Given the description of an element on the screen output the (x, y) to click on. 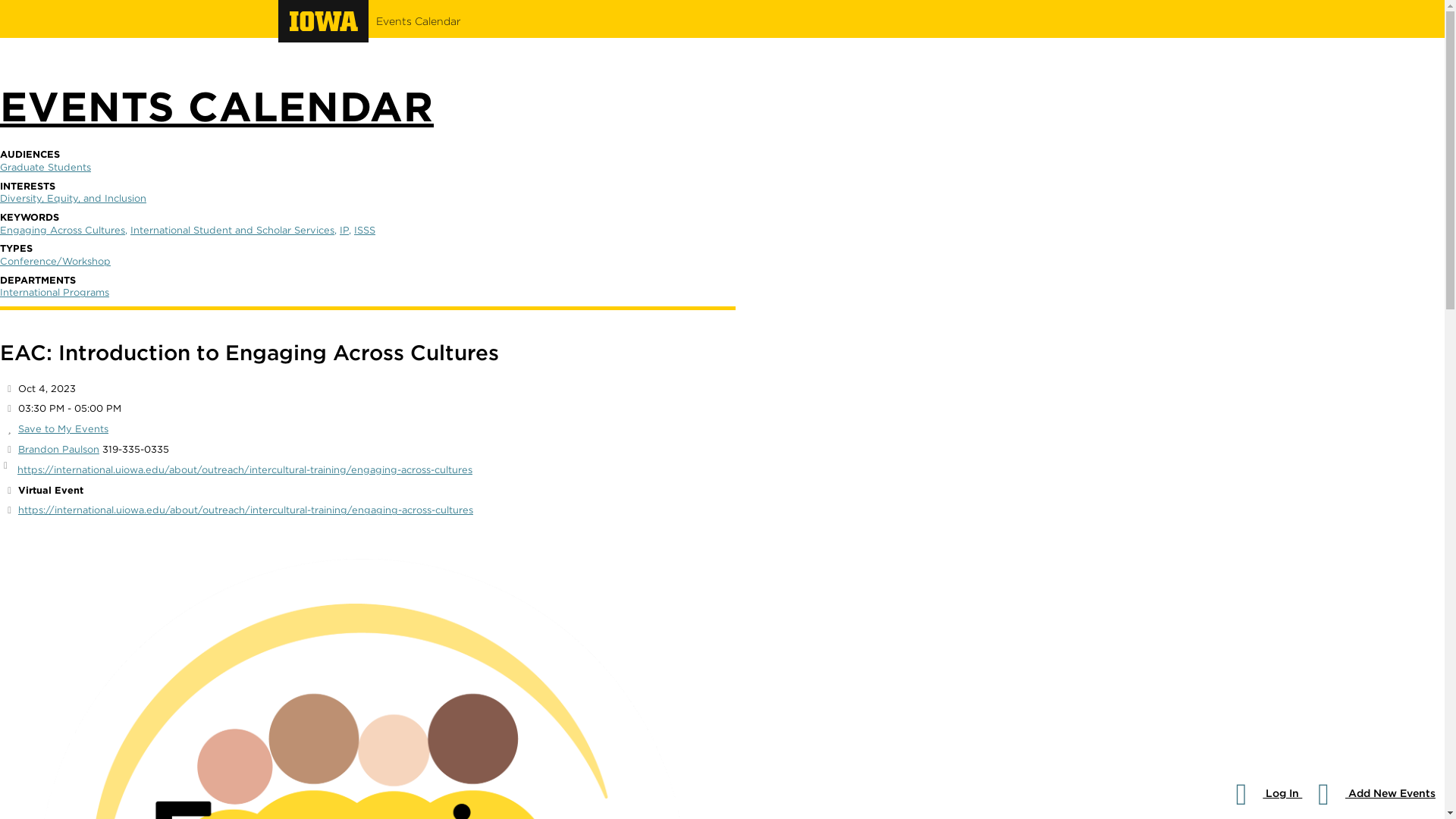
EVENTS CALENDAR (216, 106)
Events Calendar home (323, 27)
ISSS (418, 21)
Diversity, Equity, and Inclusion (364, 229)
Graduate Students (73, 197)
University of Iowa (45, 166)
International Student and Scholar Services (323, 21)
Engaging Across Cultures (232, 229)
Brandon Paulson (62, 229)
Add New Events (58, 449)
Events Calendar (1368, 793)
Save to My Events (418, 21)
Log In (62, 428)
International Programs (1261, 793)
